Given the description of an element on the screen output the (x, y) to click on. 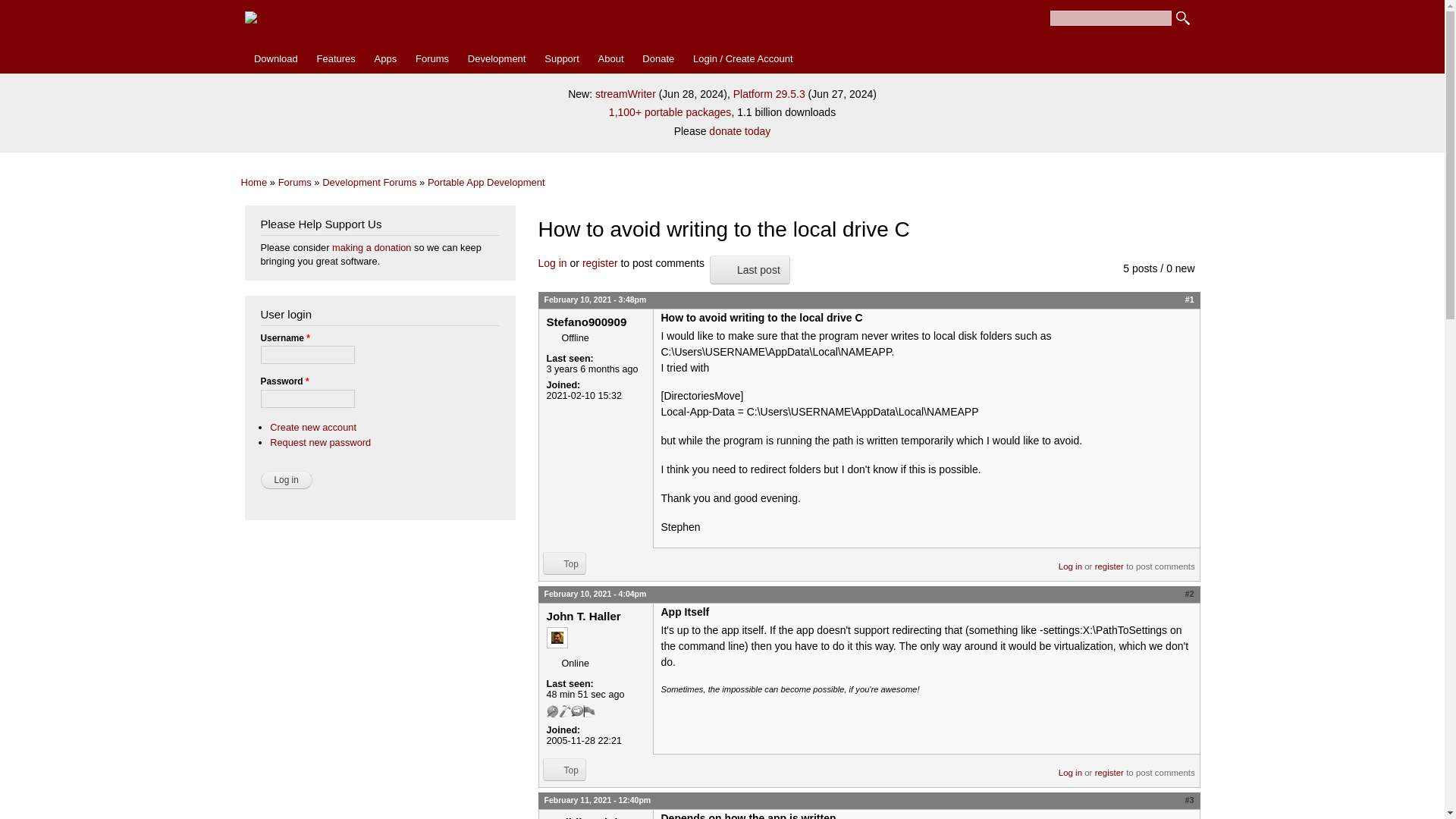
register (1109, 560)
Enter the terms you wish to search for. (1109, 17)
Home (254, 182)
Search (1182, 17)
Apps (385, 59)
Log in (552, 263)
Top (564, 769)
Log in (286, 479)
John T. Haller's picture (556, 637)
Jump to top of page (564, 563)
